Given the description of an element on the screen output the (x, y) to click on. 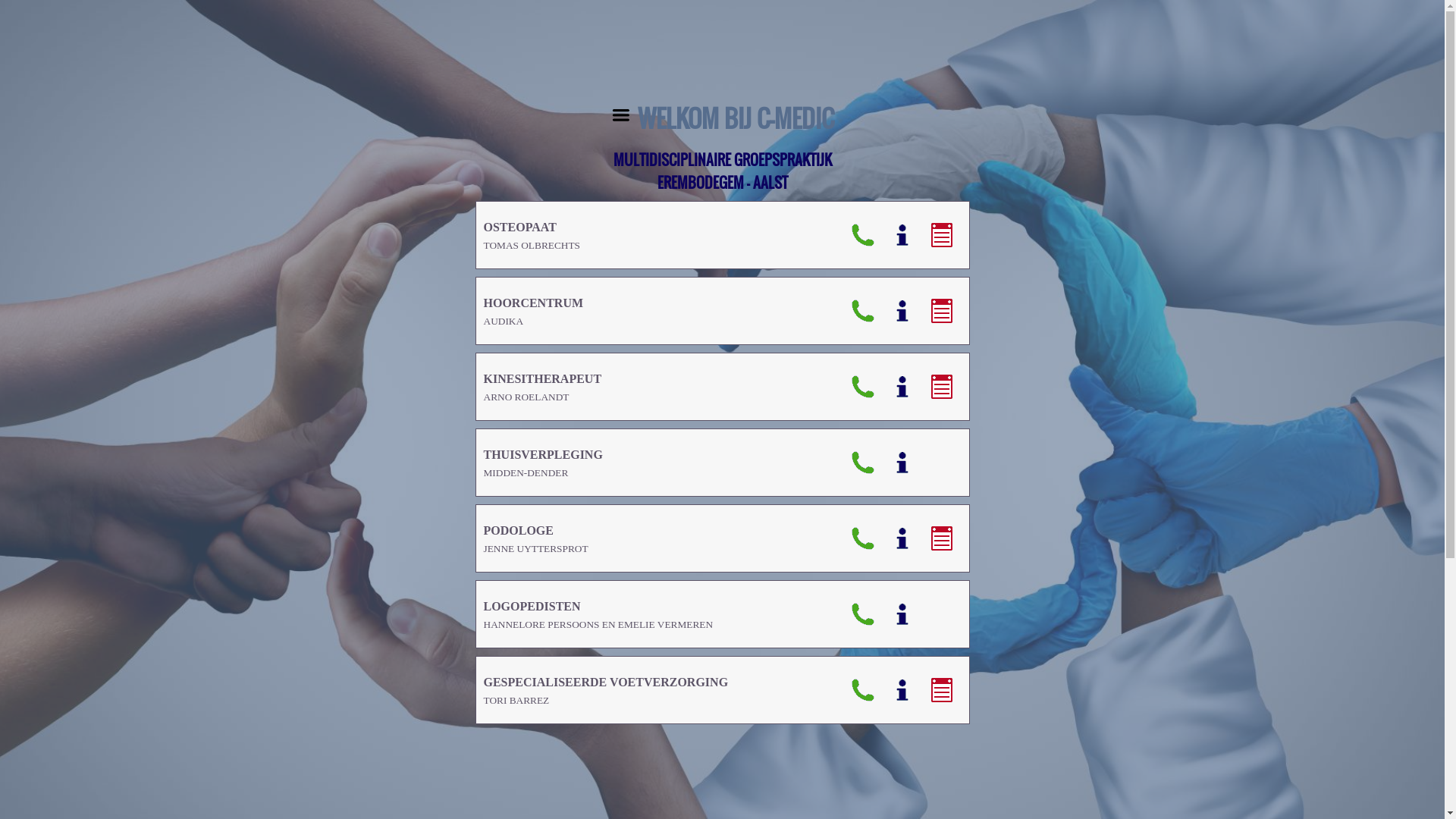
Info Element type: hover (902, 310)
Telefonische afspraak Element type: hover (862, 689)
Telefonische afspraak Element type: hover (862, 234)
Telefonische afspraak Element type: hover (862, 462)
Telefonische afspraak Element type: hover (862, 614)
Telefonische afspraak Element type: hover (862, 386)
Online afspraak Element type: hover (941, 386)
Info Element type: hover (902, 462)
Info Element type: hover (902, 614)
KINESITHERAPEUT
ARNO ROELANDT Element type: text (542, 386)
Telefonische afspraak Element type: hover (862, 538)
Info Element type: hover (902, 538)
PODOLOGE
JENNE UYTTERSPROT Element type: text (535, 538)
Online afspraak Element type: hover (941, 234)
Info Element type: hover (902, 689)
Online afspraak Element type: hover (941, 538)
LOGOPEDISTEN
HANNELORE PERSOONS EN EMELIE VERMEREN Element type: text (598, 614)
HOORCENTRUM
AUDIKA Element type: text (533, 311)
Info Element type: hover (902, 234)
Online afspraak Element type: hover (941, 310)
GESPECIALISEERDE VOETVERZORGING
TORI BARREZ Element type: text (605, 690)
Online afspraak Element type: hover (941, 689)
THUISVERPLEGING
MIDDEN-DENDER Element type: text (542, 462)
Meer Element type: hover (620, 117)
OSTEOPAAT
TOMAS OLBRECHTS Element type: text (531, 235)
Telefonische afspraak Element type: hover (862, 310)
Info Element type: hover (902, 386)
